Given the description of an element on the screen output the (x, y) to click on. 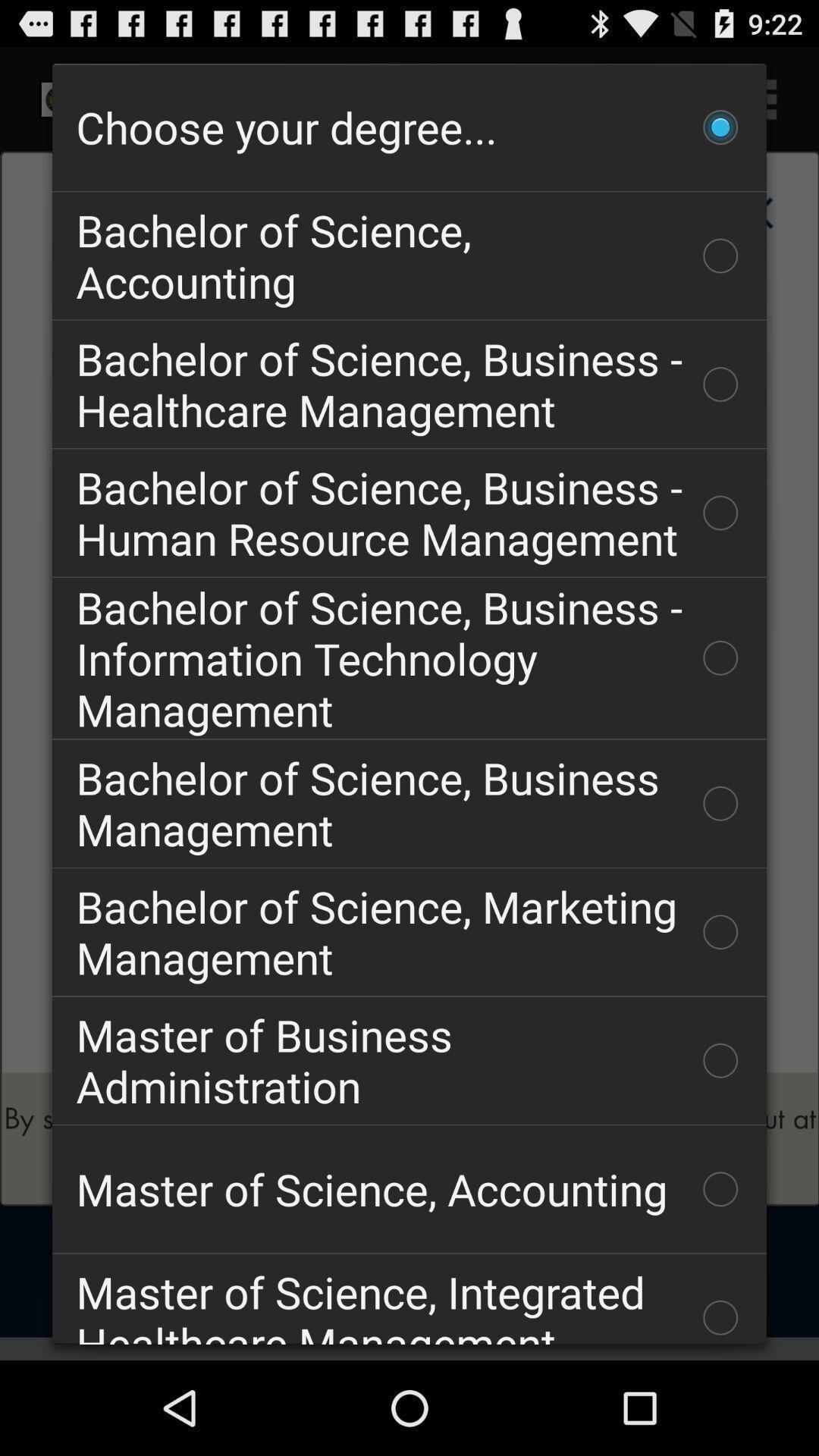
launch icon above bachelor of science (409, 127)
